Given the description of an element on the screen output the (x, y) to click on. 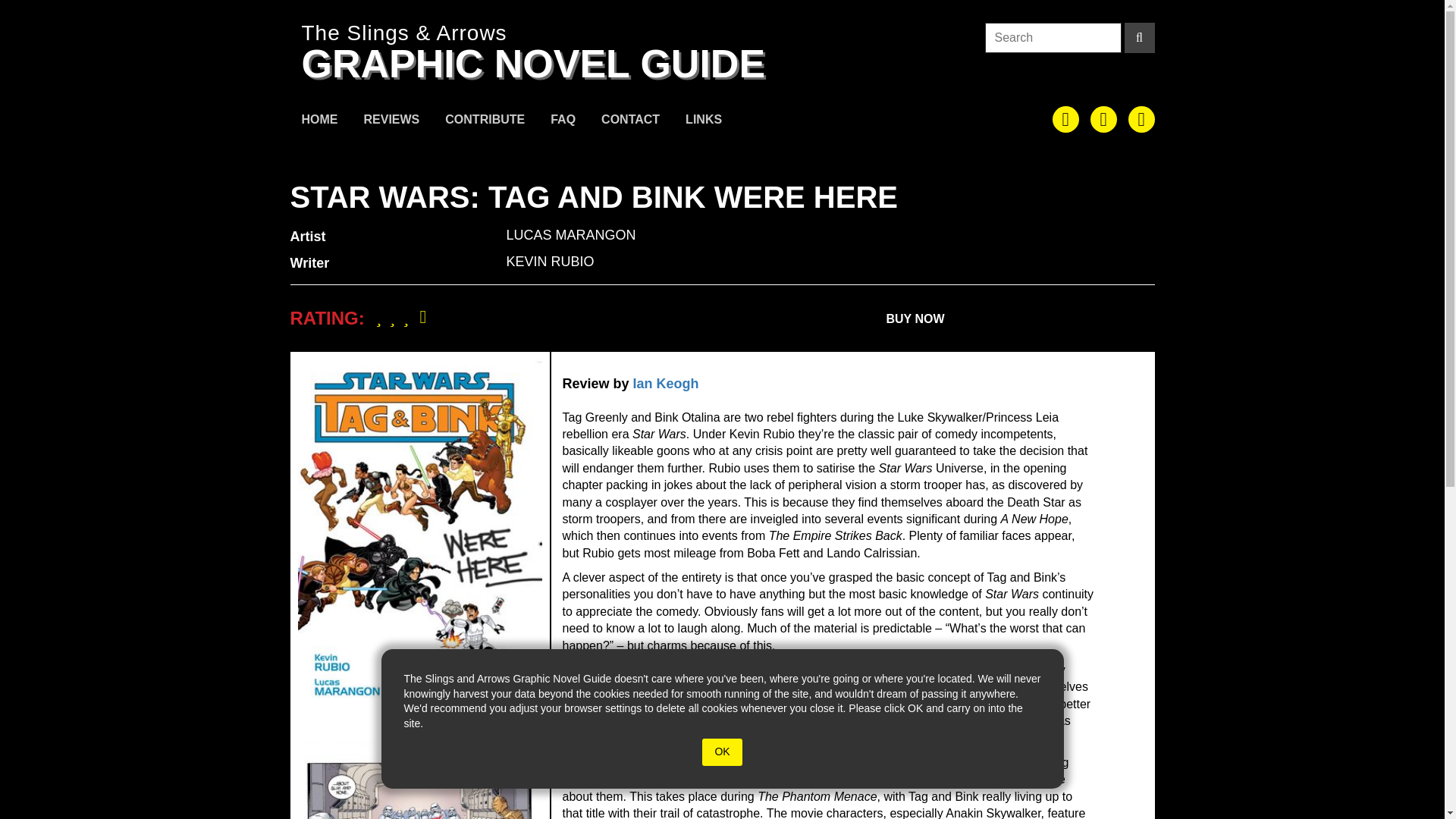
OK (721, 751)
FAQ (562, 121)
REVIEWS (391, 121)
CONTRIBUTE (484, 121)
Posts by Ian Keogh (665, 383)
HOME (319, 121)
SAMPLE IMAGE  (419, 779)
LUCAS MARANGON (571, 234)
Ian Keogh (665, 383)
KEVIN RUBIO (550, 261)
